Given the description of an element on the screen output the (x, y) to click on. 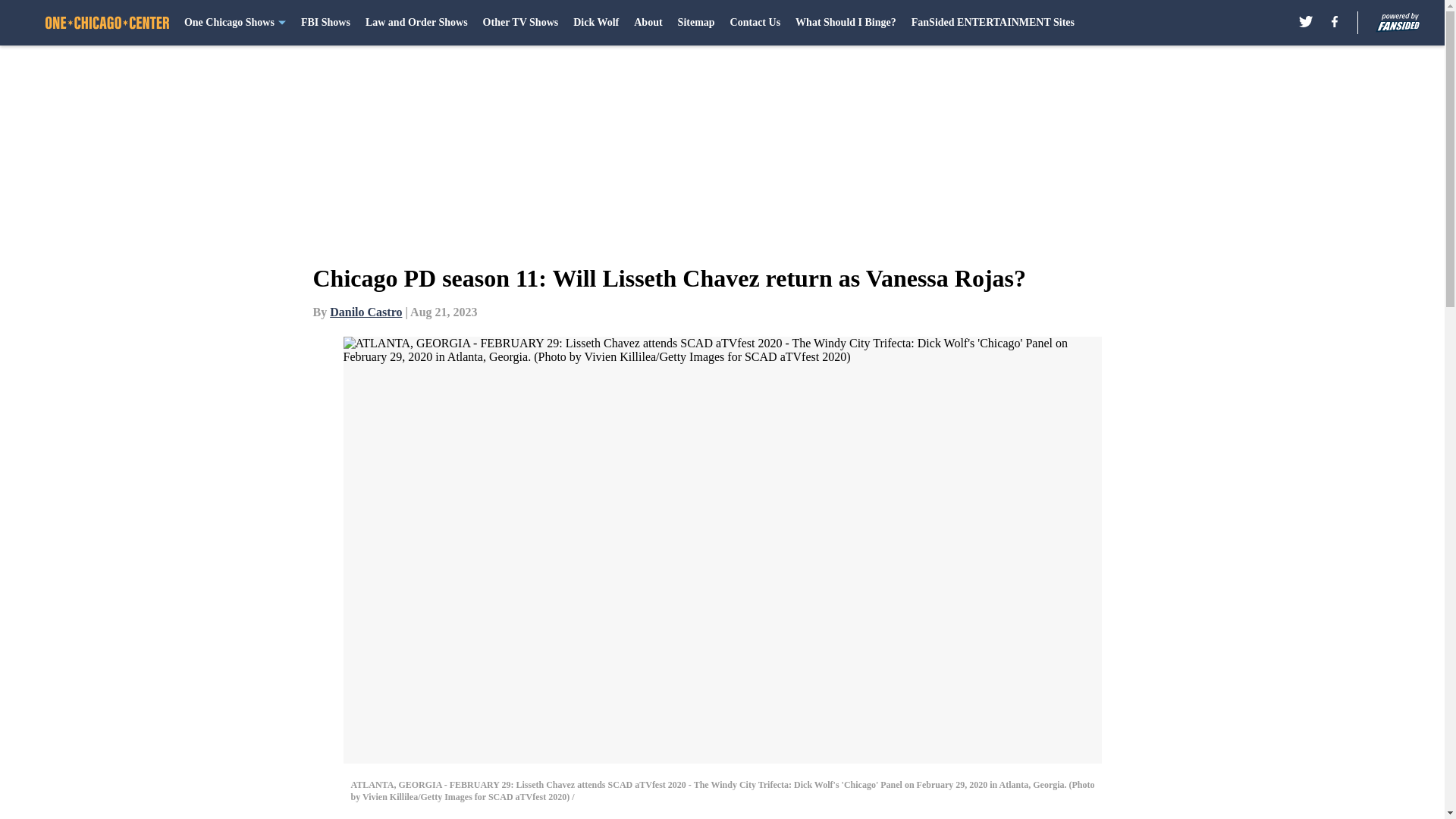
Dick Wolf (595, 22)
Danilo Castro (365, 311)
Law and Order Shows (416, 22)
What Should I Binge? (845, 22)
Contact Us (755, 22)
Sitemap (696, 22)
Other TV Shows (521, 22)
FBI Shows (325, 22)
FanSided ENTERTAINMENT Sites (992, 22)
About (647, 22)
